Given the description of an element on the screen output the (x, y) to click on. 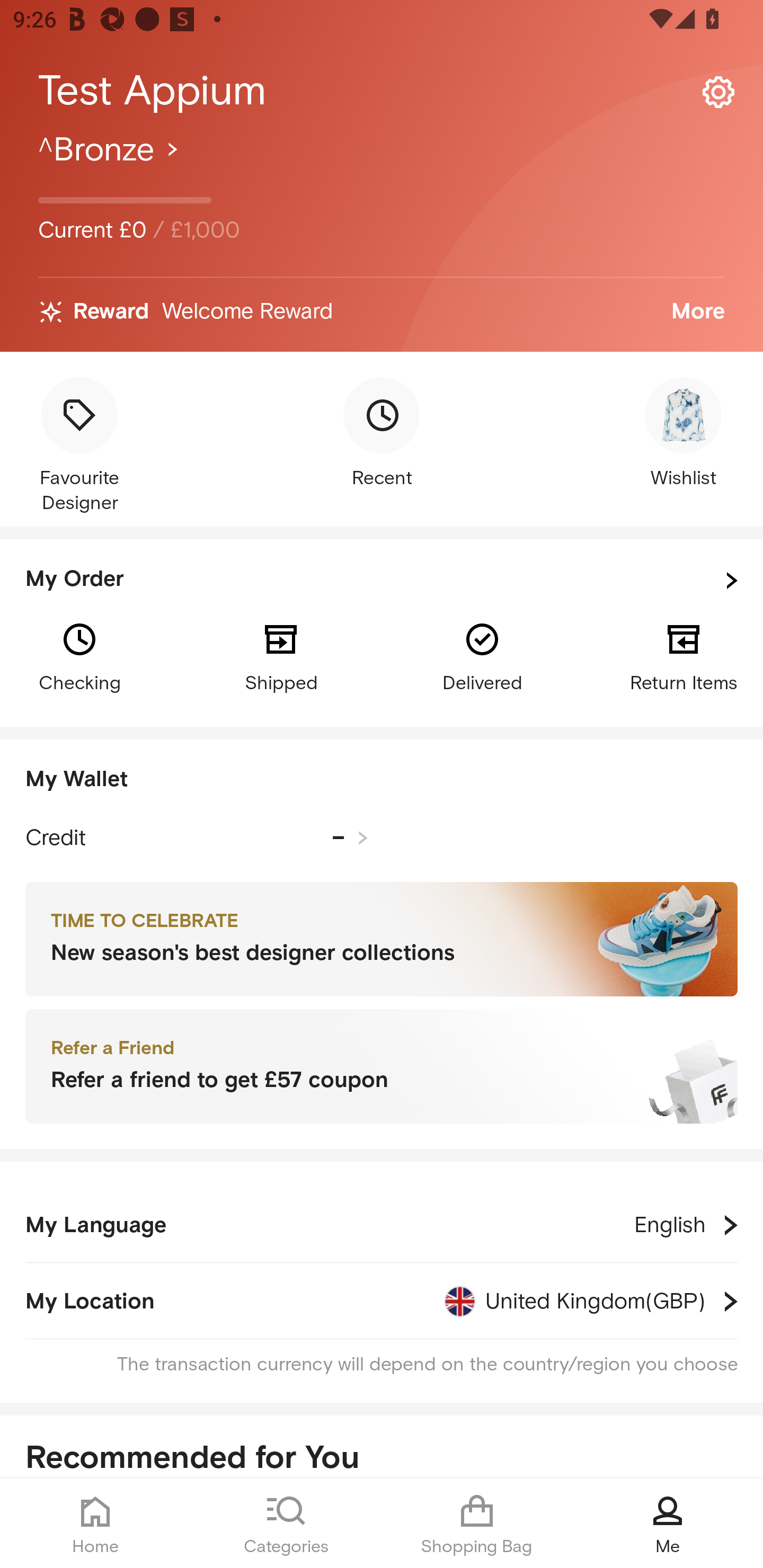
Test Appium (381, 91)
Current £0 / £1,000 Reward Welcome Reward More (381, 240)
Reward Welcome Reward More (381, 311)
Favourite Designer (79, 446)
Recent (381, 433)
Wishlist (683, 433)
My Order (381, 580)
Checking (79, 656)
Shipped (280, 656)
Delivered (482, 656)
Return Items (683, 656)
My Wallet (381, 779)
Credit - (196, 837)
Refer a Friend Refer a friend to get £57 coupon (381, 1066)
My Language English (381, 1224)
My Location United Kingdom(GBP) (381, 1301)
Home (95, 1523)
Categories (285, 1523)
Shopping Bag (476, 1523)
